Given the description of an element on the screen output the (x, y) to click on. 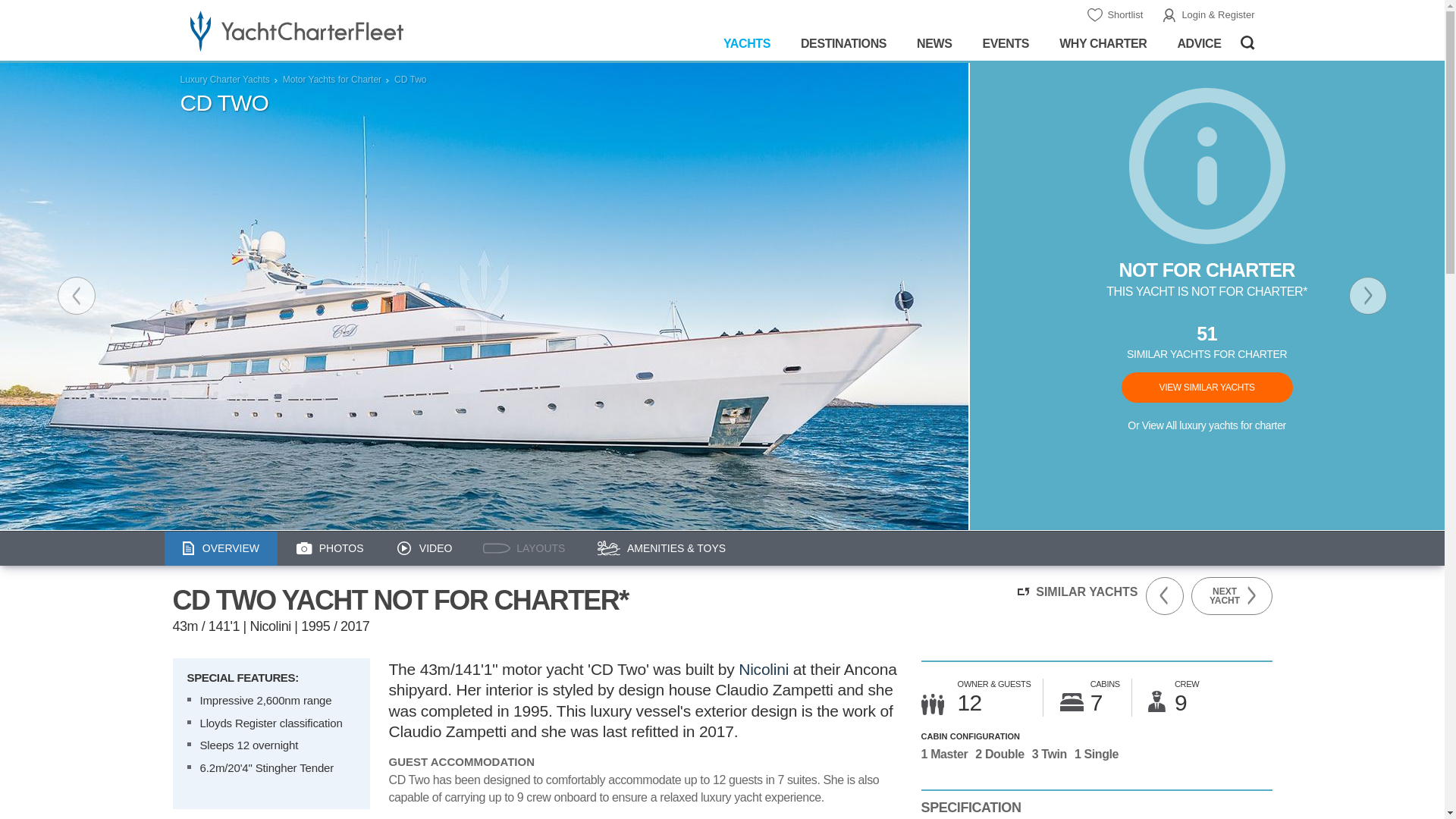
Previous Yacht (77, 295)
Next Yacht (1368, 295)
Back to Homepage (343, 30)
